Given the description of an element on the screen output the (x, y) to click on. 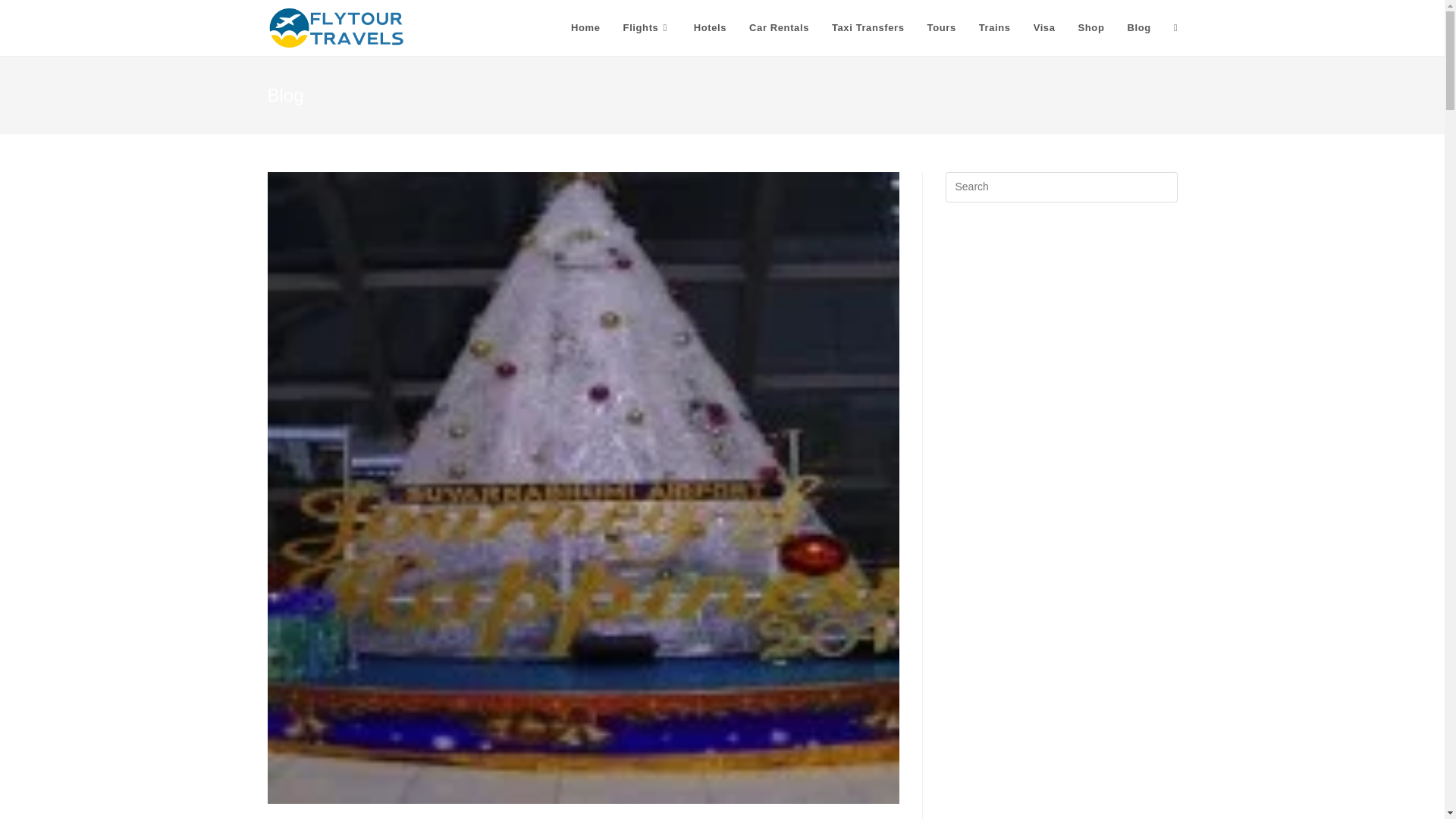
Tours (941, 28)
Home (585, 28)
Taxi Transfers (868, 28)
Flights (646, 28)
Hotels (710, 28)
Trains (995, 28)
Car Rentals (779, 28)
